Given the description of an element on the screen output the (x, y) to click on. 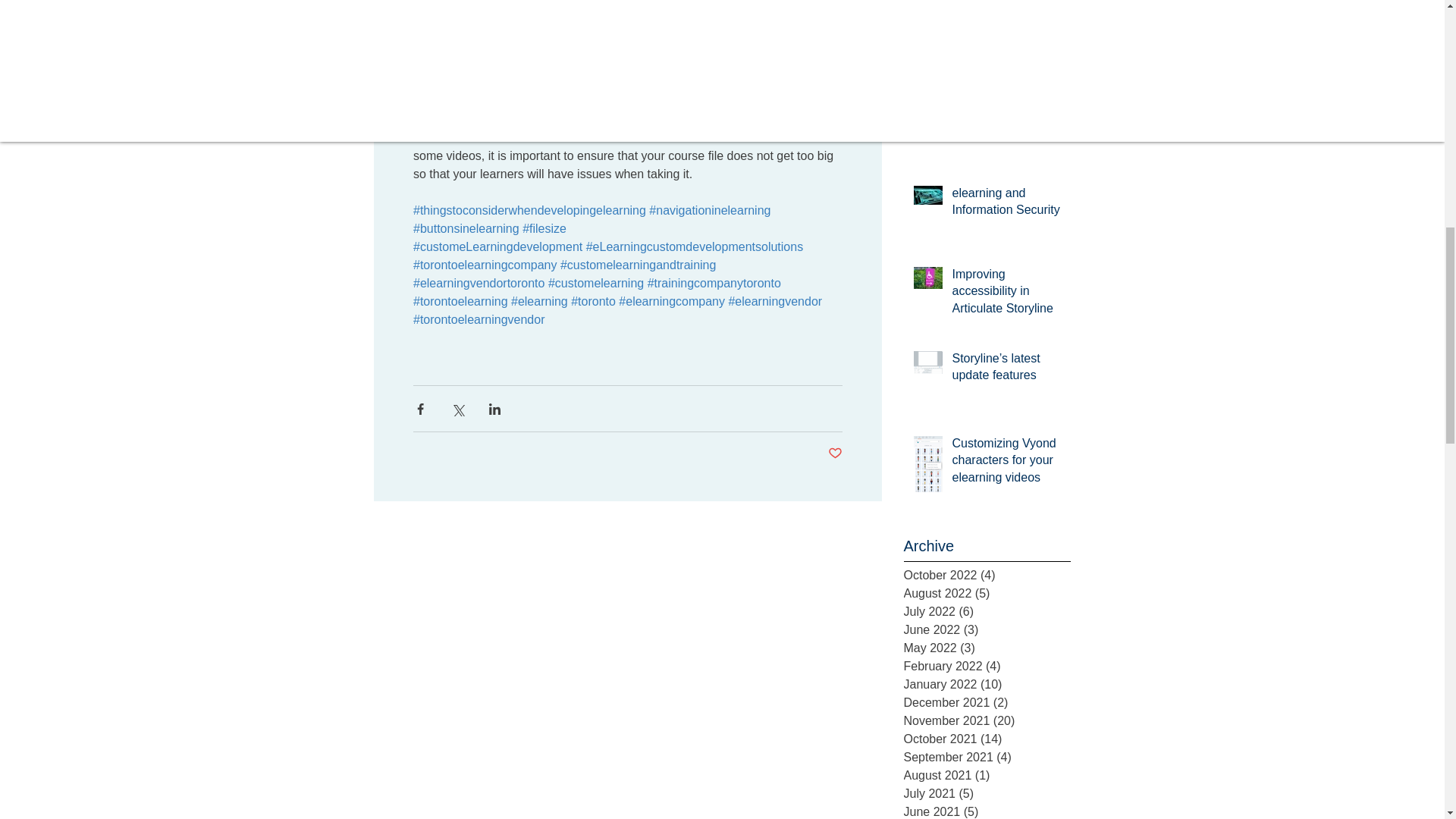
Post not marked as liked (835, 453)
New features in Articulate Storyline (1006, 106)
Customizing Vyond characters for your elearning videos (1006, 463)
Hybrid work and elearning time (992, 28)
Improving accessibility in Articulate Storyline (1006, 294)
elearning and Information Security (1006, 205)
